Given the description of an element on the screen output the (x, y) to click on. 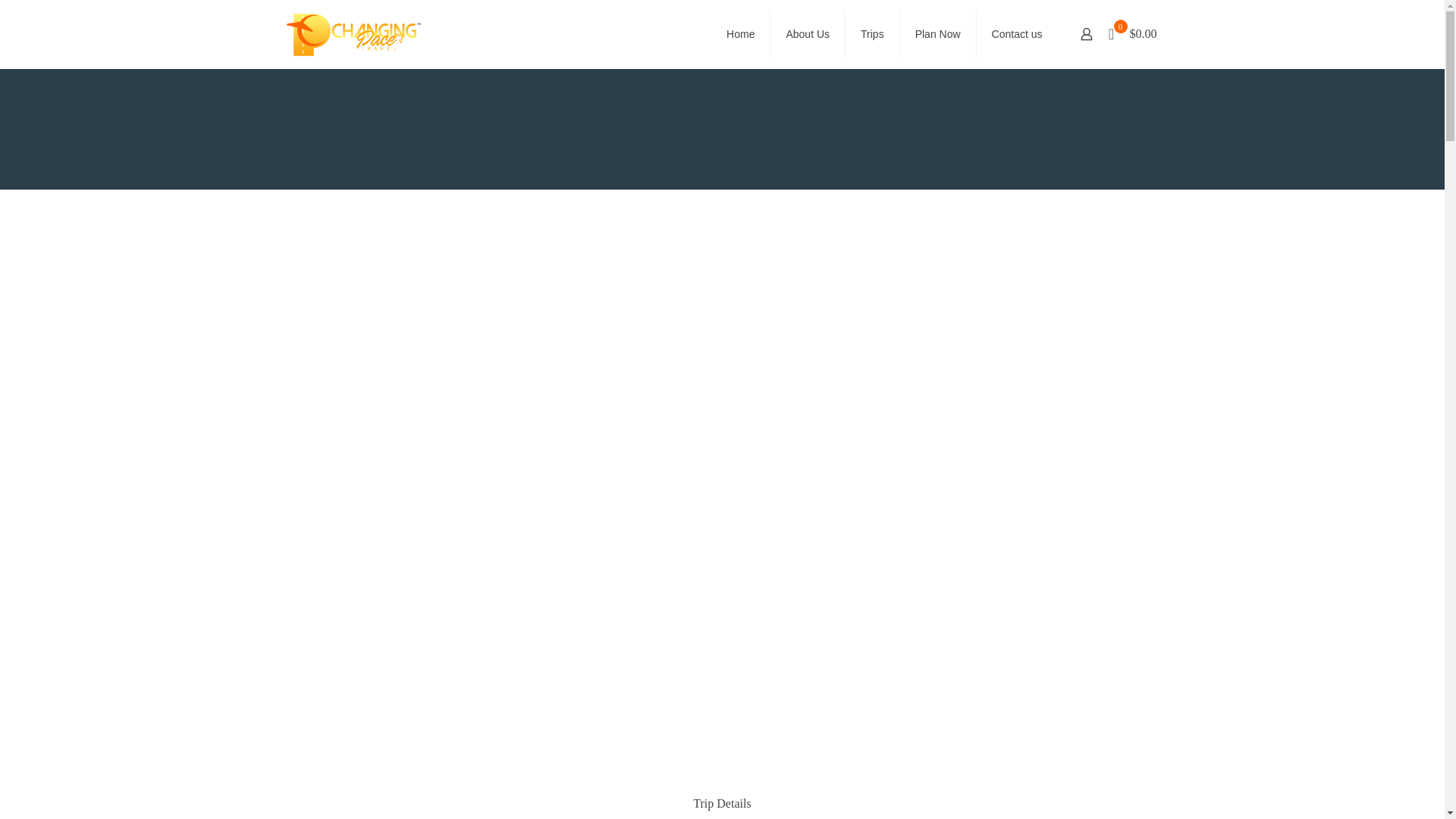
Changing Pace Travel (352, 33)
Plan Now (937, 33)
Contact us (1017, 33)
About Us (807, 33)
